Given the description of an element on the screen output the (x, y) to click on. 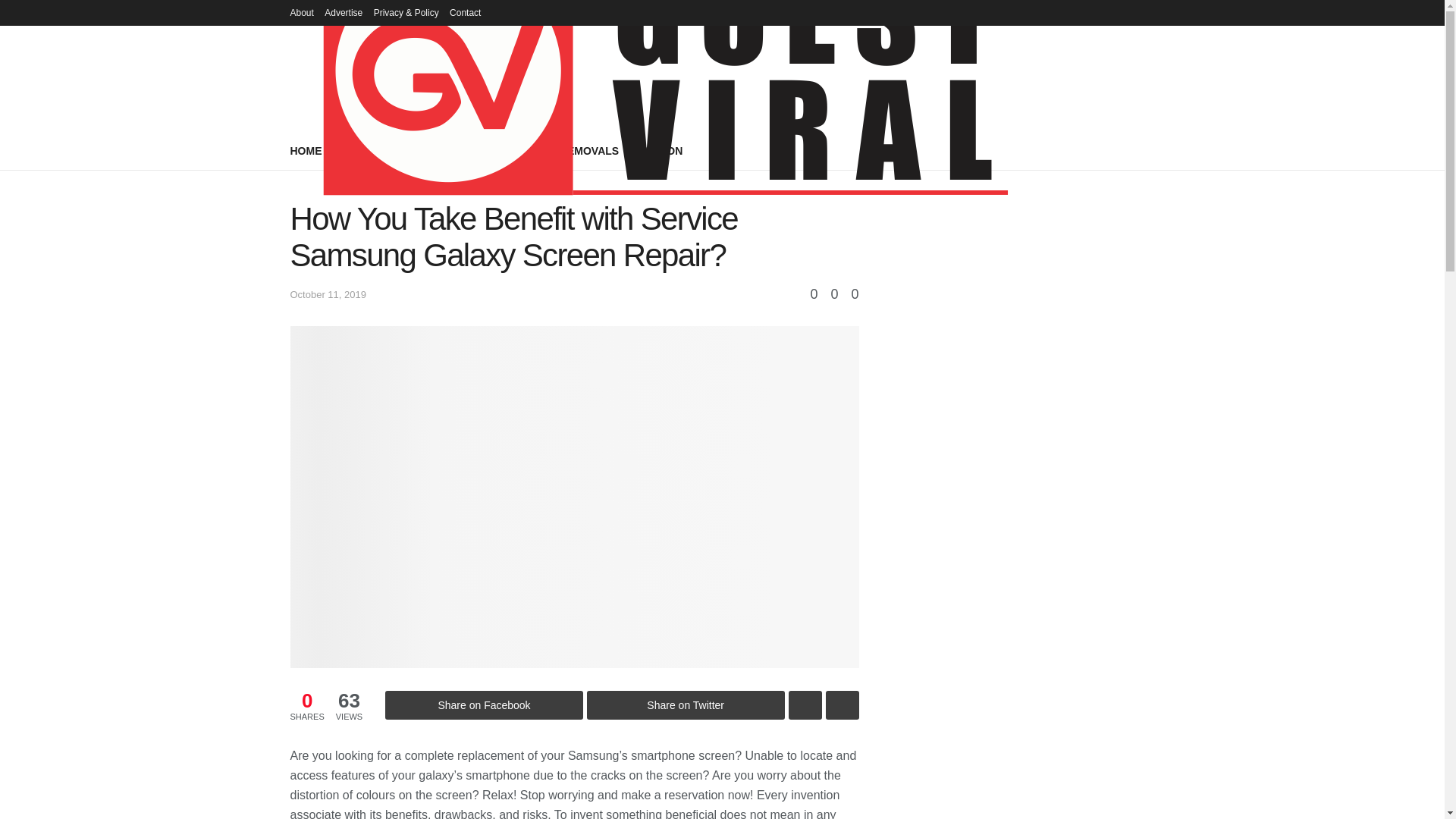
Advertise (343, 12)
Contact (464, 12)
HOME (305, 150)
About (301, 12)
BUSINESS (365, 150)
TECHNOLOGY (446, 150)
